Given the description of an element on the screen output the (x, y) to click on. 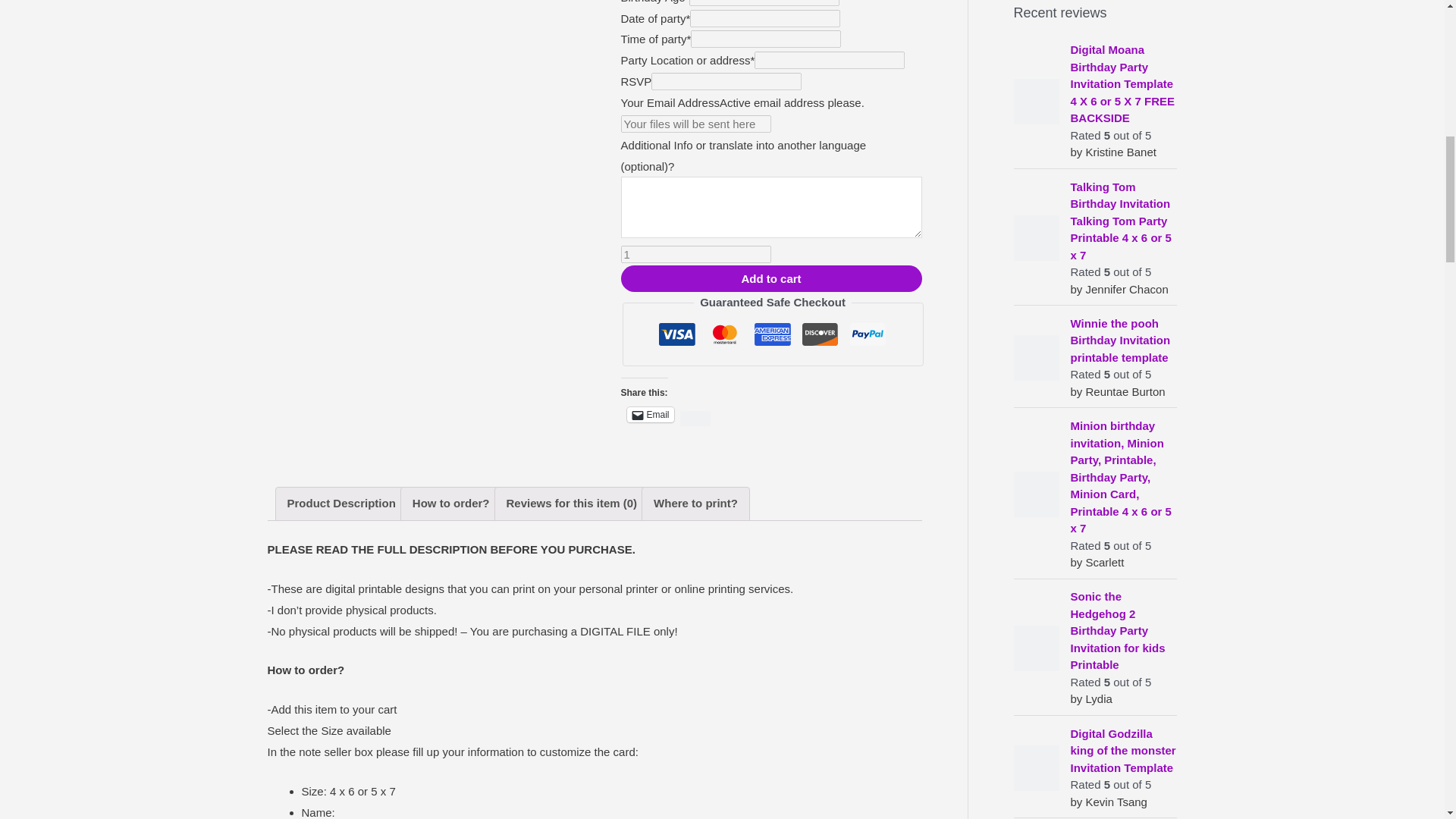
How to order? (450, 503)
1 (696, 253)
Product Description (340, 503)
Click to email a link to a friend (650, 414)
Add to cart (771, 278)
Where to print? (695, 503)
Email (650, 414)
